Given the description of an element on the screen output the (x, y) to click on. 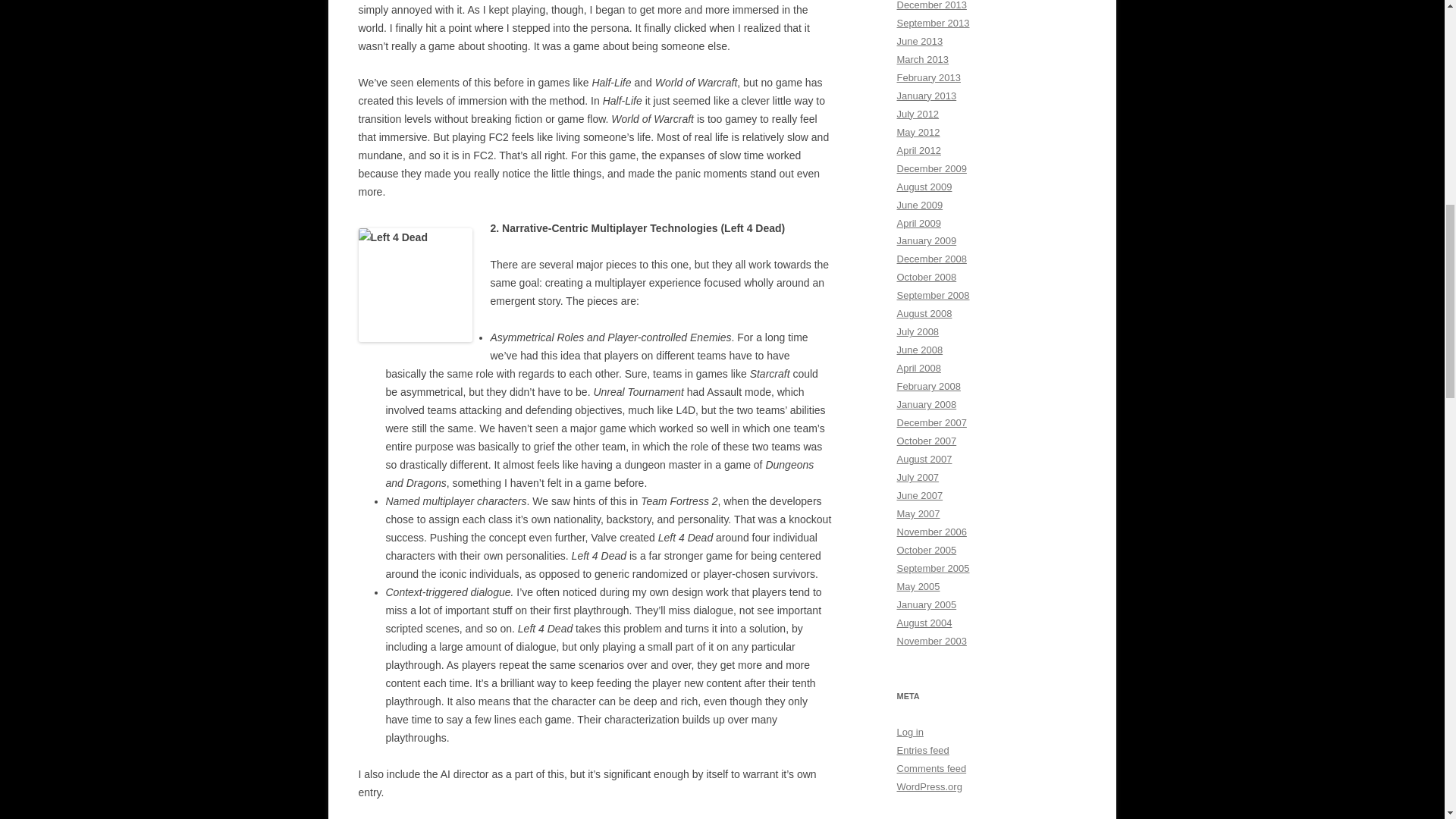
Left 4 Dead (414, 285)
September 2013 (932, 22)
February 2013 (927, 77)
January 2013 (926, 95)
December 2009 (931, 168)
May 2012 (917, 132)
June 2013 (919, 41)
April 2012 (918, 150)
December 2013 (931, 5)
March 2013 (922, 59)
July 2012 (917, 113)
